Given the description of an element on the screen output the (x, y) to click on. 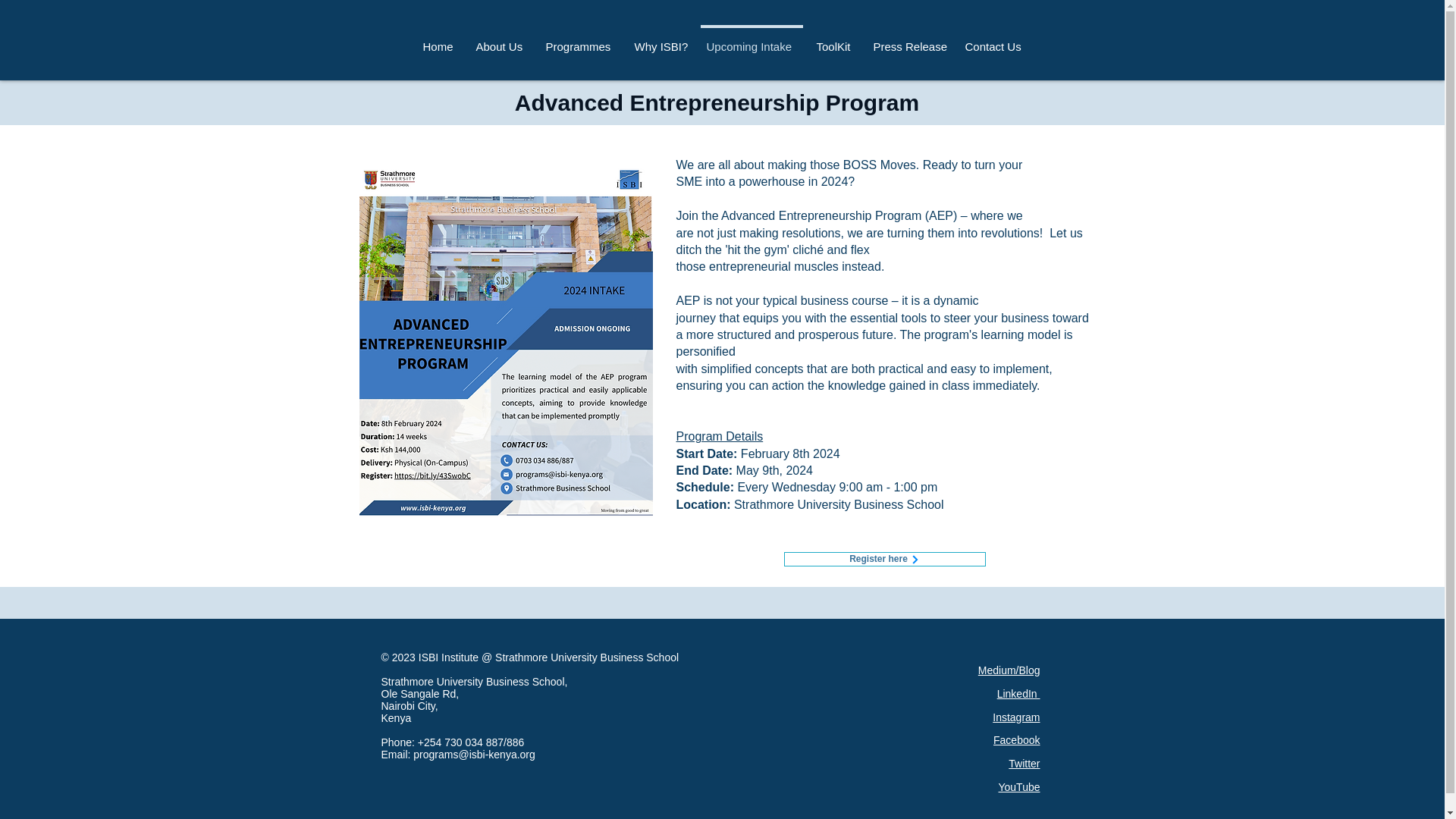
Why ISBI? (660, 40)
Instagram (1015, 717)
Press Release (909, 40)
Programmes (579, 40)
YouTube (1018, 787)
About Us (500, 40)
LinkedIn  (1019, 693)
Upcoming Intake (750, 40)
Facebook (1015, 739)
Register here (884, 559)
